Given the description of an element on the screen output the (x, y) to click on. 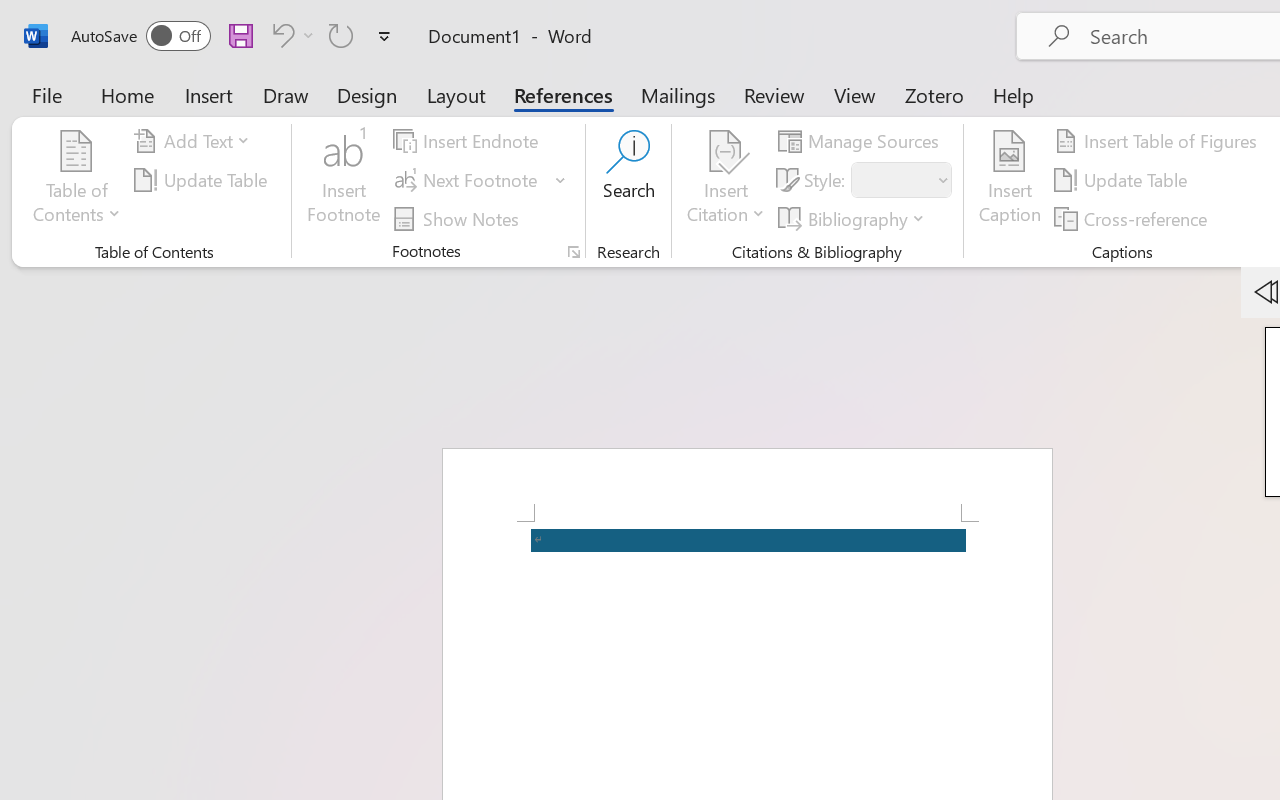
Bibliography (854, 218)
Update Table (1124, 179)
Insert Citation (726, 179)
Next Footnote (468, 179)
Next Footnote (479, 179)
Search (628, 179)
Footnote and Endnote Dialog... (573, 252)
